Given the description of an element on the screen output the (x, y) to click on. 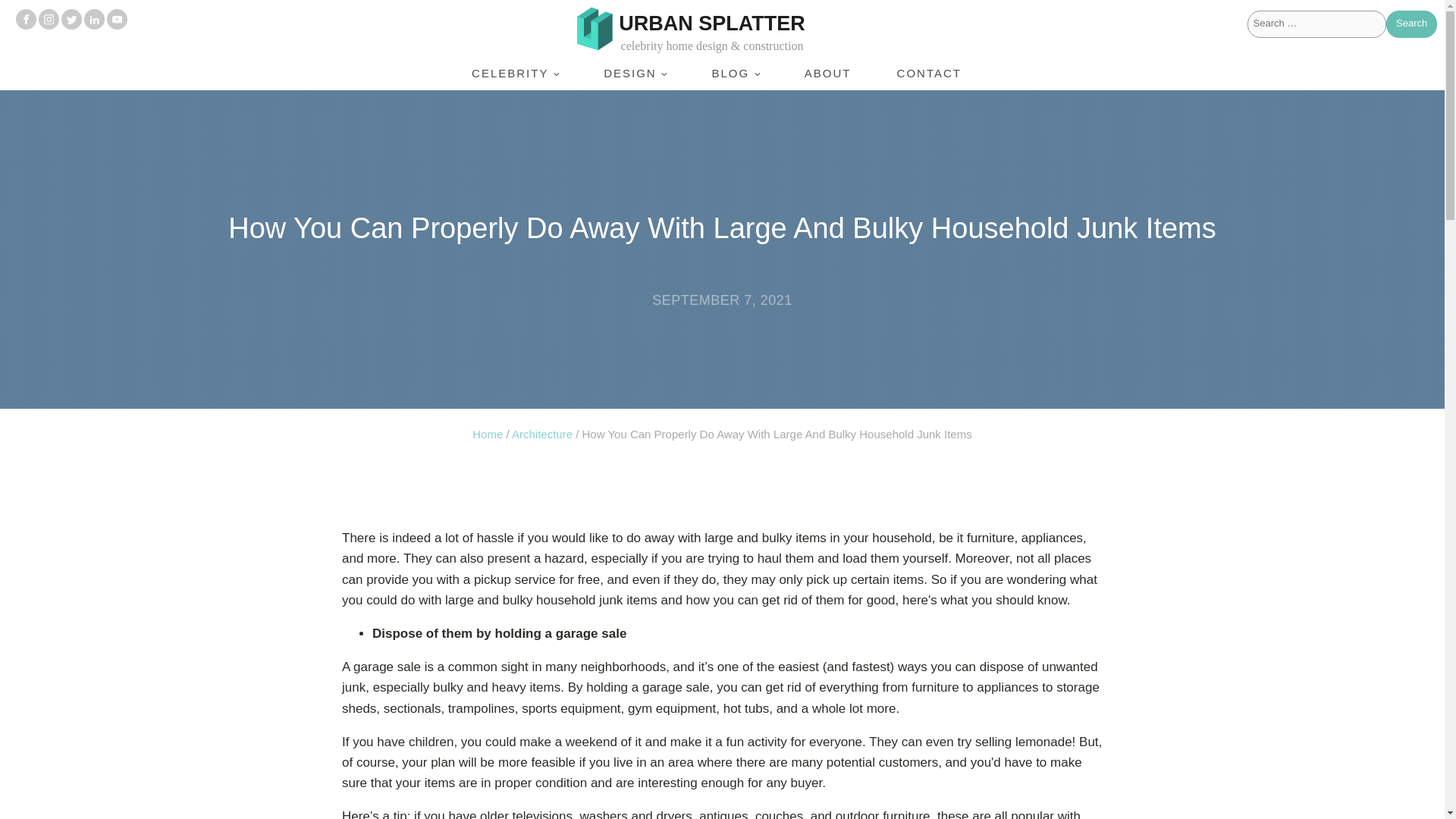
Search (1411, 23)
Search (1411, 23)
DESIGN (634, 73)
Search (1411, 23)
CELEBRITY (514, 73)
BLOG (734, 73)
